Given the description of an element on the screen output the (x, y) to click on. 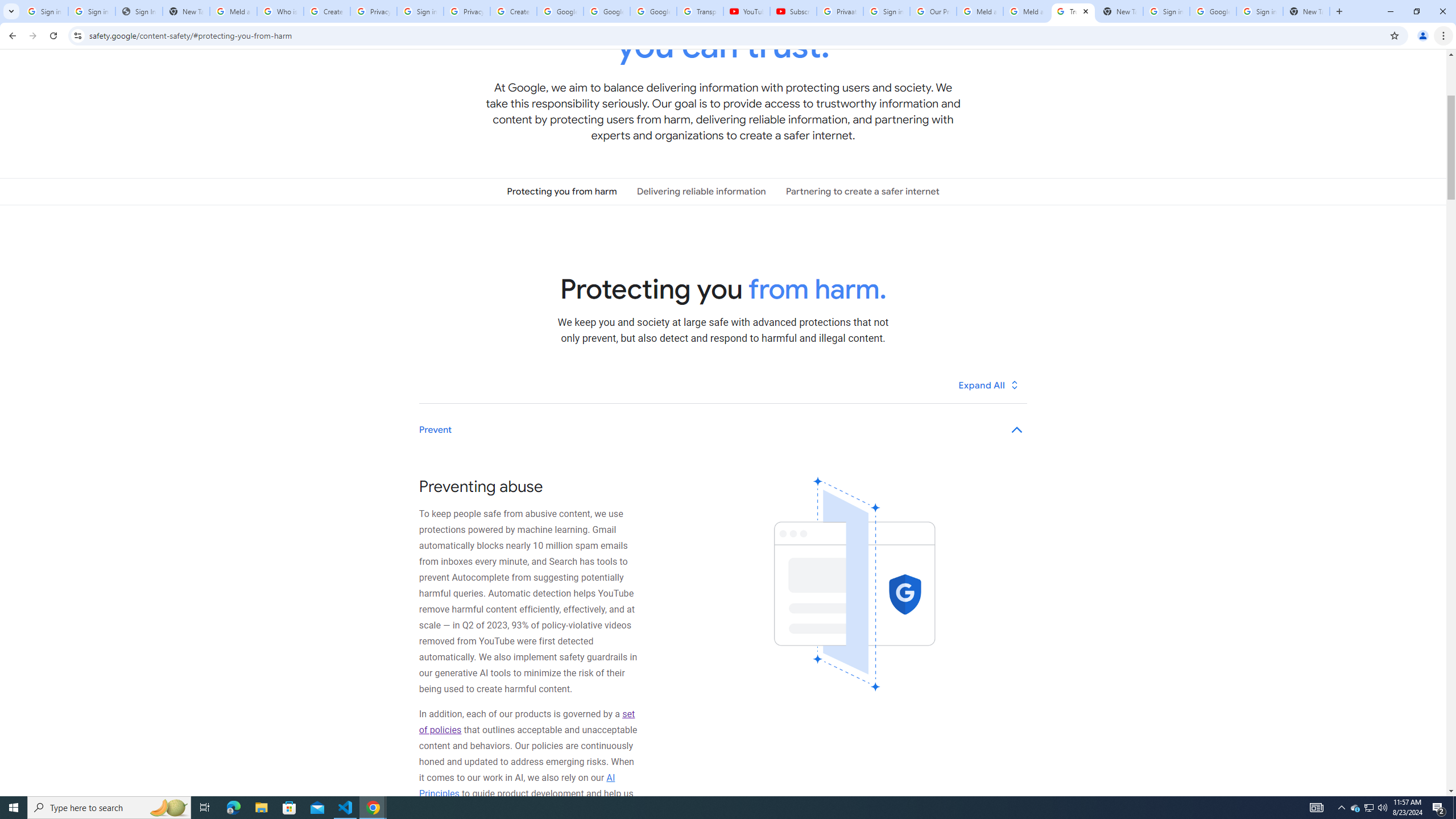
Trusted Information and Content - Google Safety Center (1073, 11)
Create your Google Account (326, 11)
Sign in - Google Accounts (886, 11)
Delivering reliable information (700, 191)
Subscriptions - YouTube (792, 11)
Sign in - Google Accounts (419, 11)
Google Cybersecurity Innovations - Google Safety Center (1213, 11)
Prevent (723, 429)
